Given the description of an element on the screen output the (x, y) to click on. 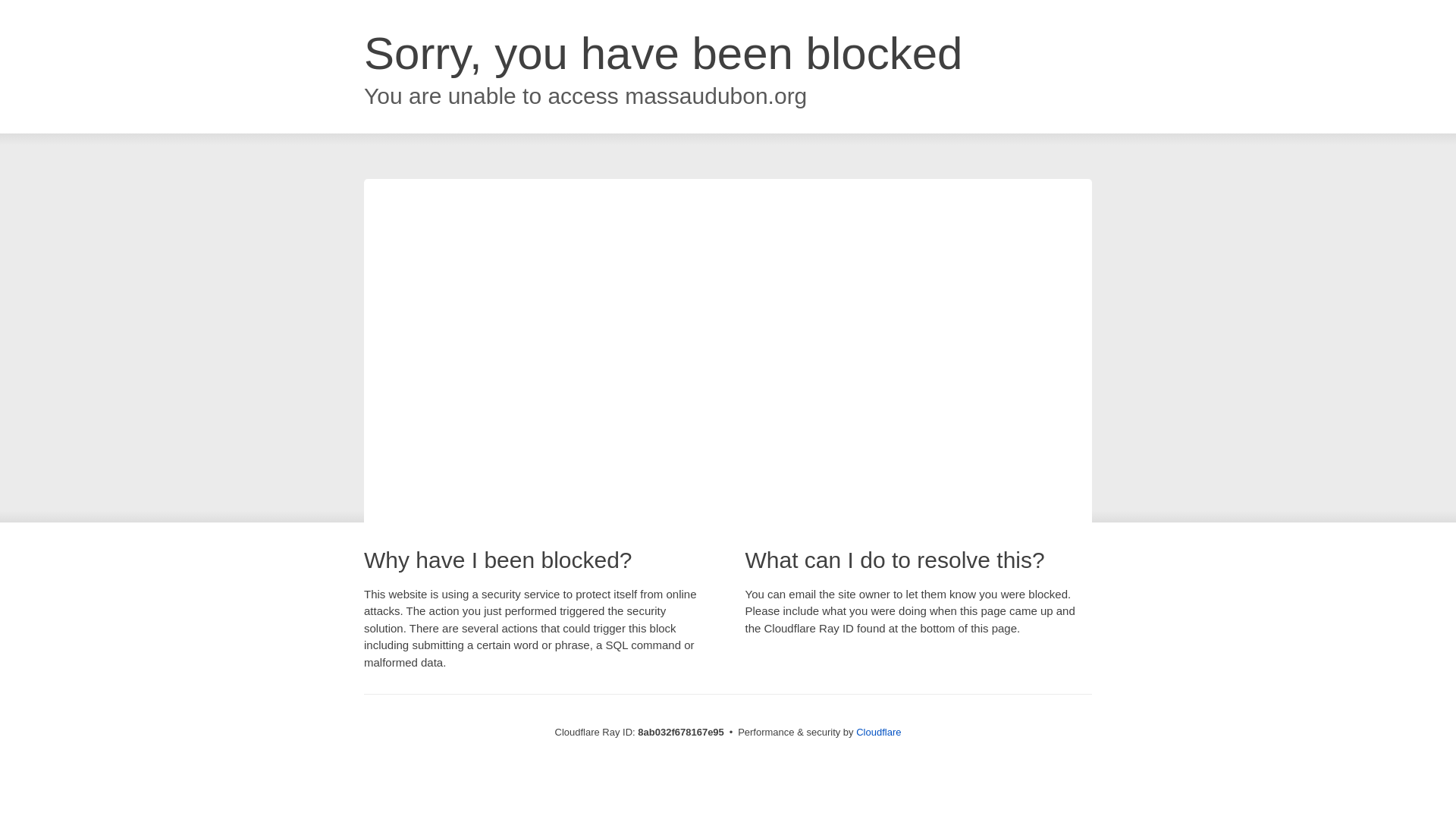
Cloudflare (878, 731)
